Given the description of an element on the screen output the (x, y) to click on. 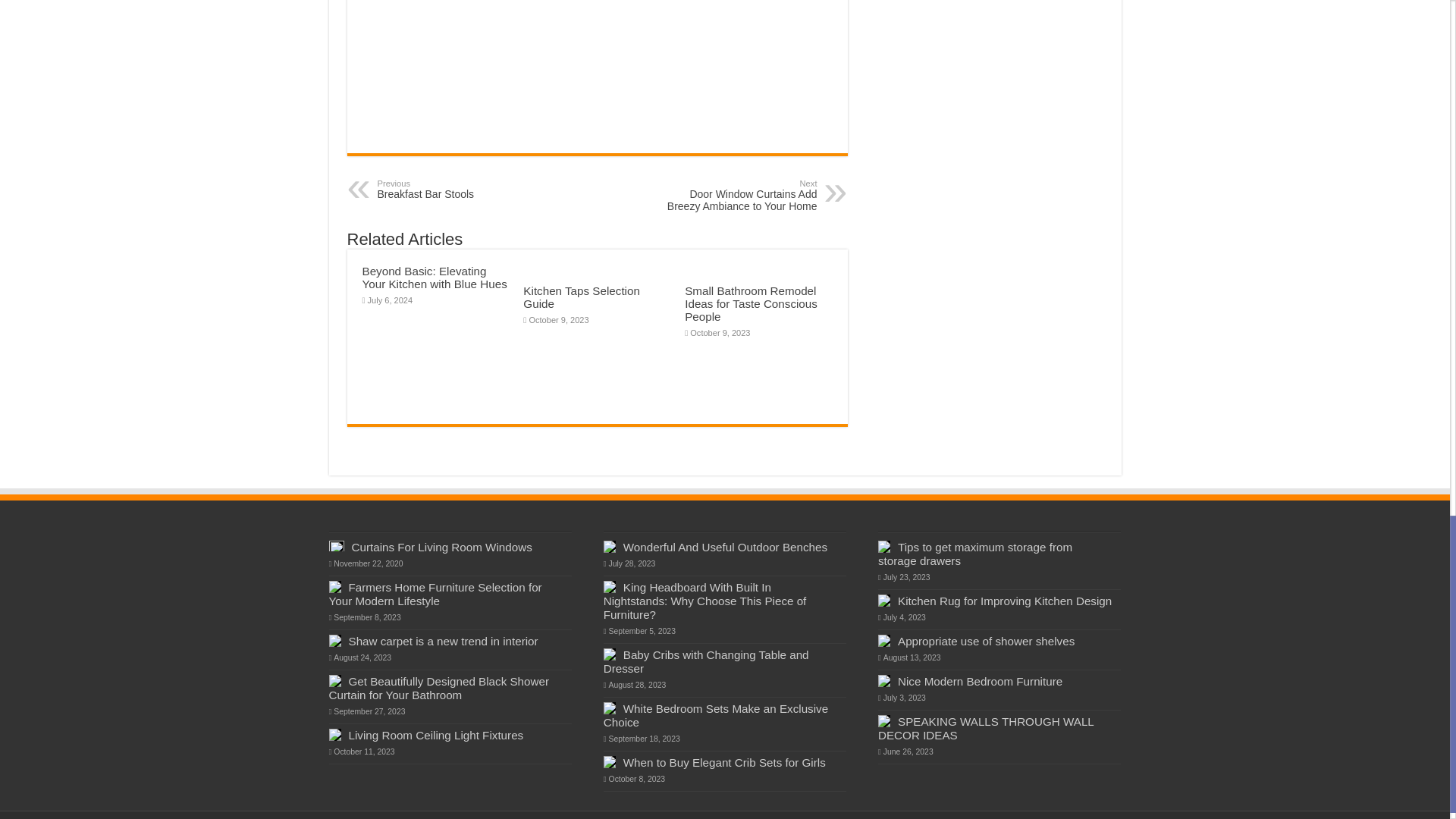
Beyond Basic: Elevating Your Kitchen with Blue Hues (454, 189)
